Given the description of an element on the screen output the (x, y) to click on. 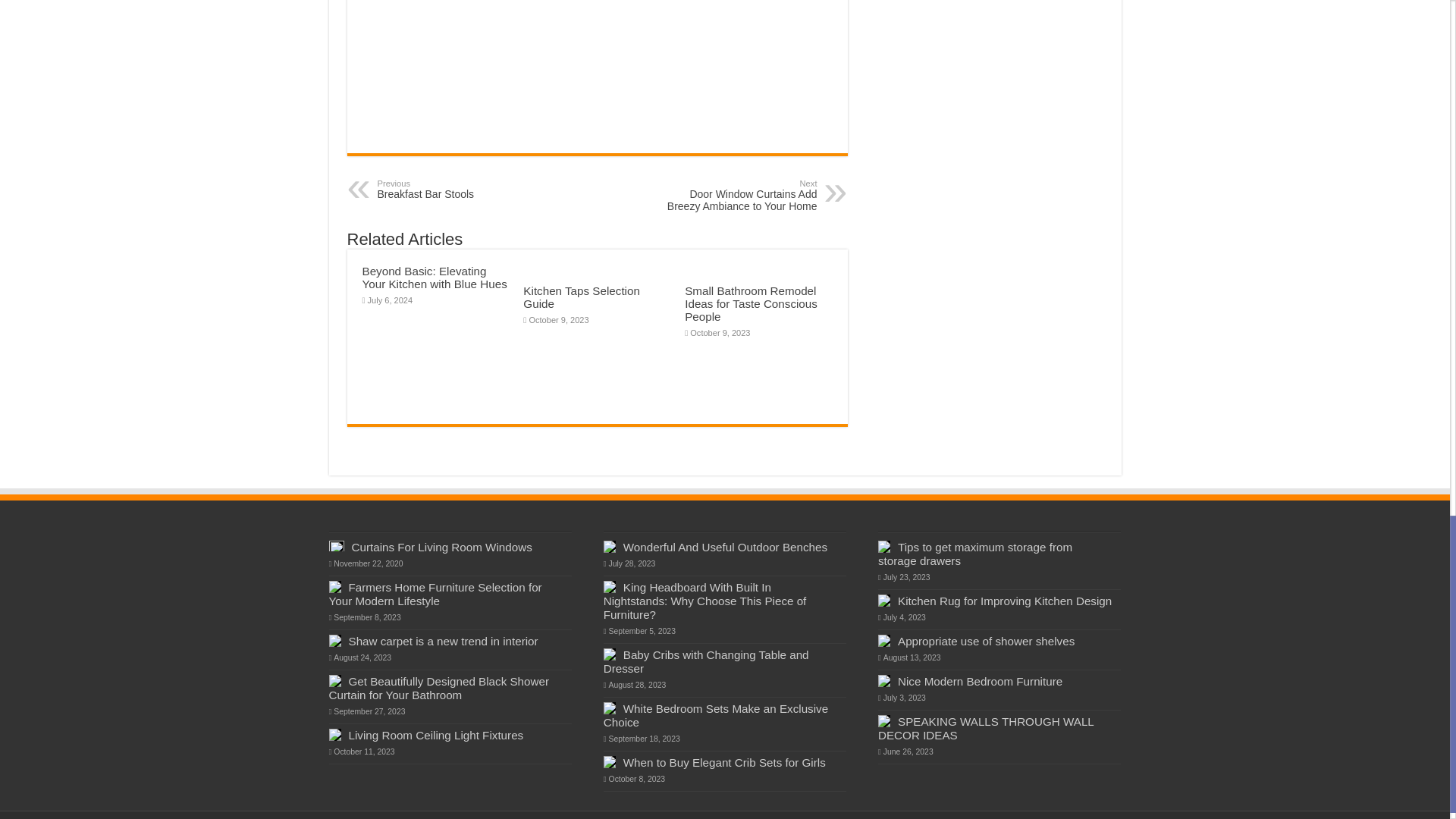
Beyond Basic: Elevating Your Kitchen with Blue Hues (454, 189)
